Given the description of an element on the screen output the (x, y) to click on. 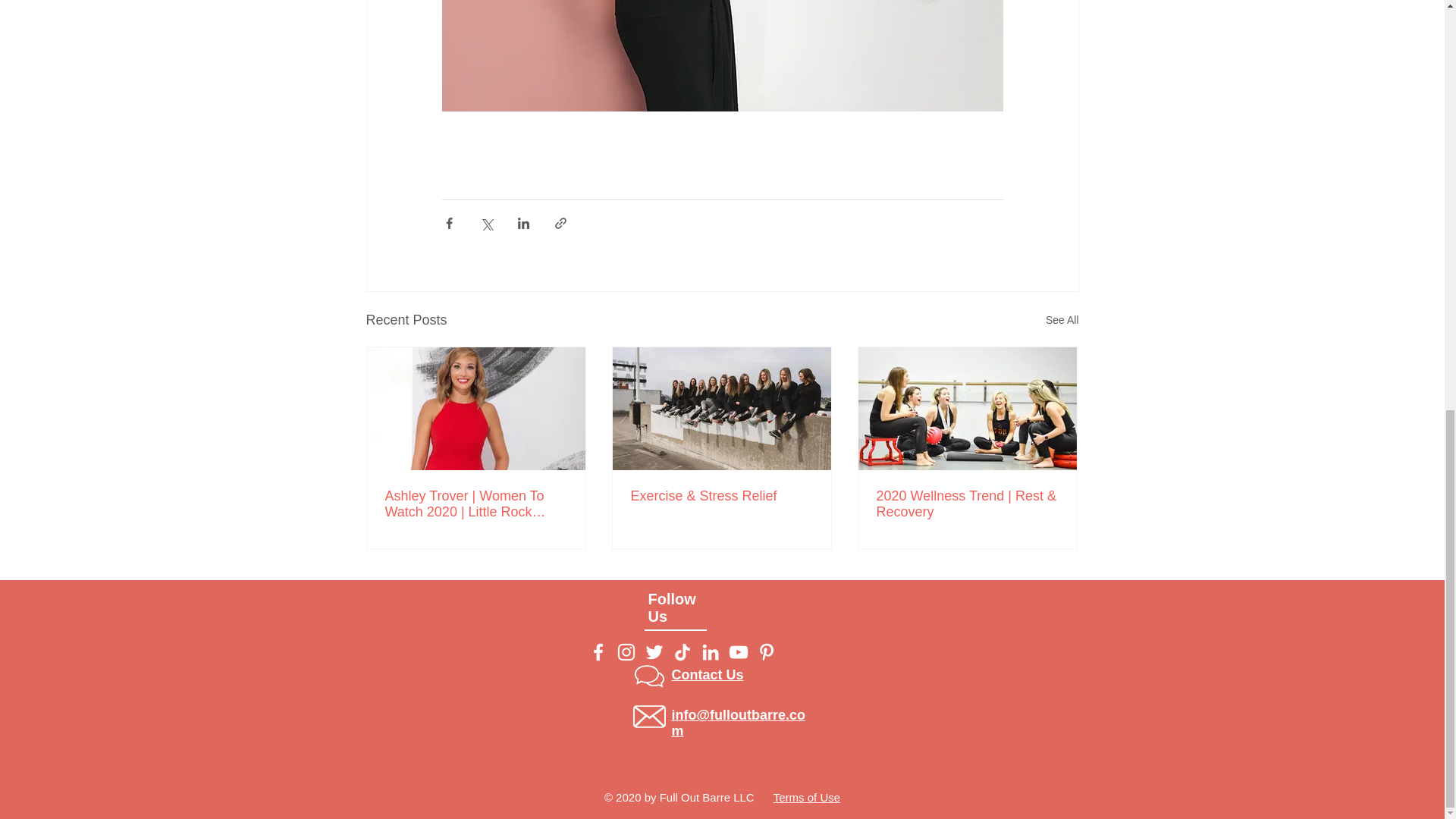
Terms of Use (806, 797)
Contact Us (707, 674)
See All (1061, 320)
